Given the description of an element on the screen output the (x, y) to click on. 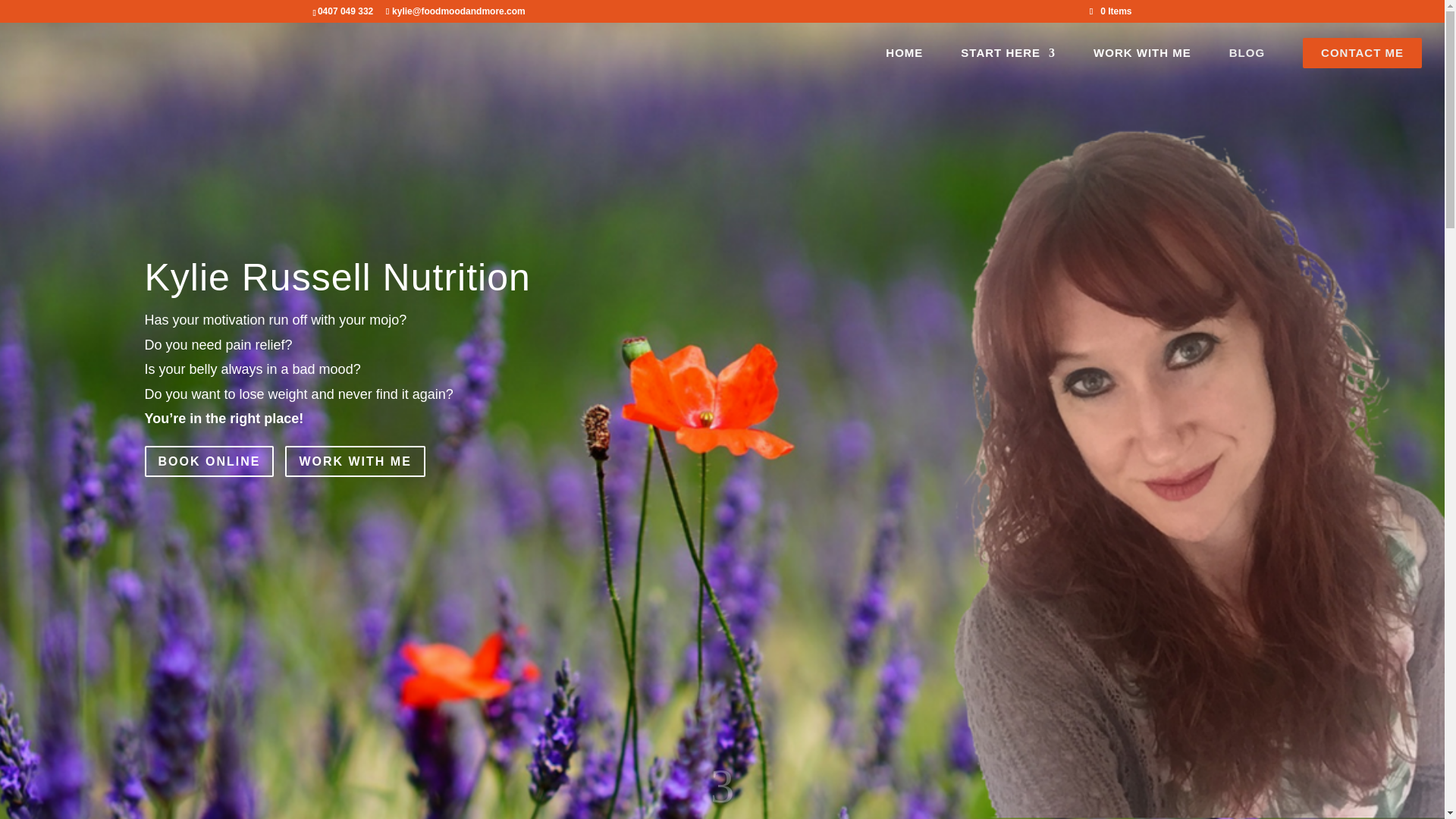
BLOG (1246, 62)
CONTACT ME (1361, 56)
START HERE (1007, 62)
WORK WITH ME (355, 460)
WORK WITH ME (1142, 62)
BOOK ONLINE (208, 460)
HOME (904, 62)
3 (721, 788)
0 Items (1110, 10)
